Given the description of an element on the screen output the (x, y) to click on. 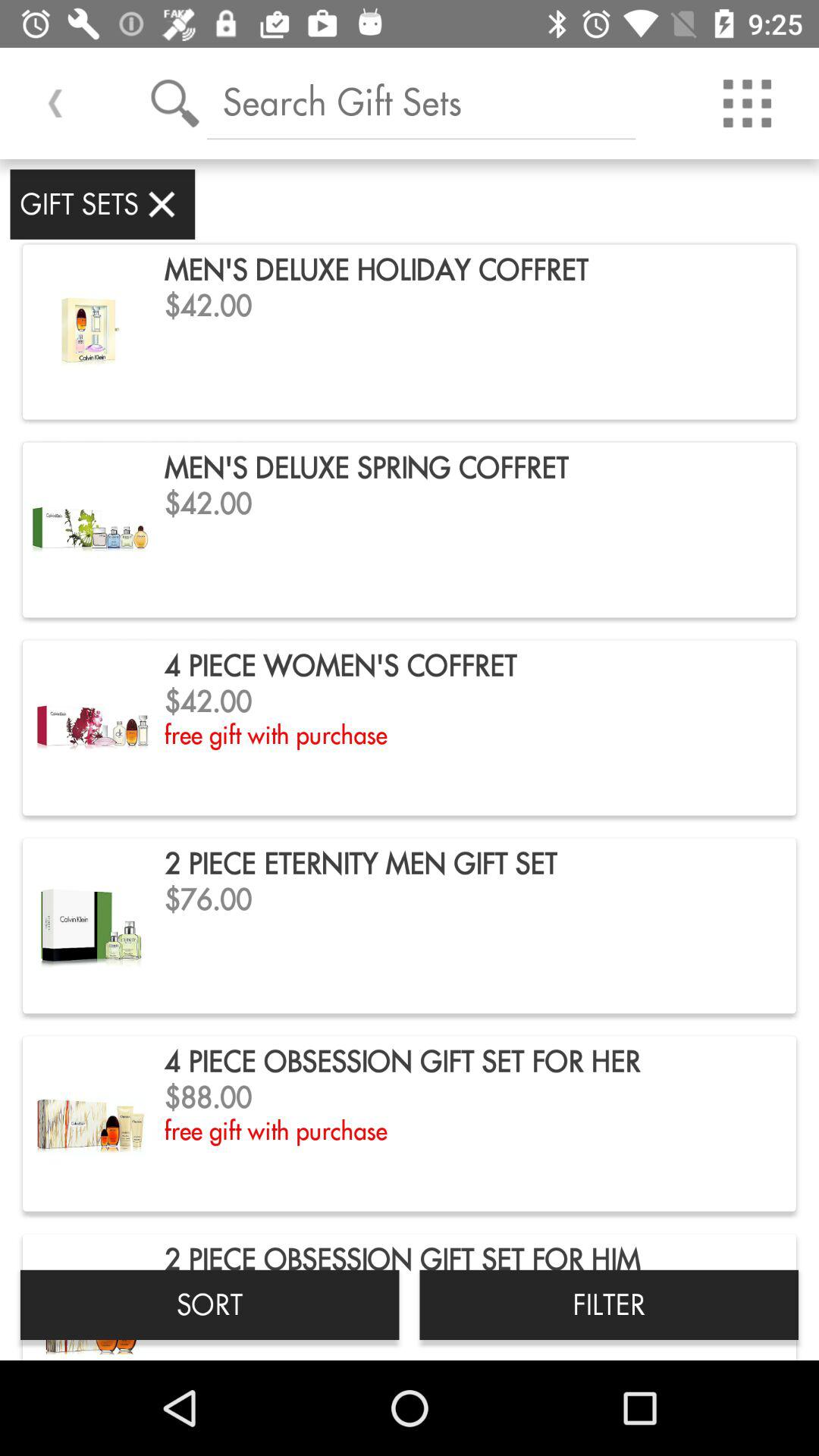
turn off gift sets item (102, 204)
